Given the description of an element on the screen output the (x, y) to click on. 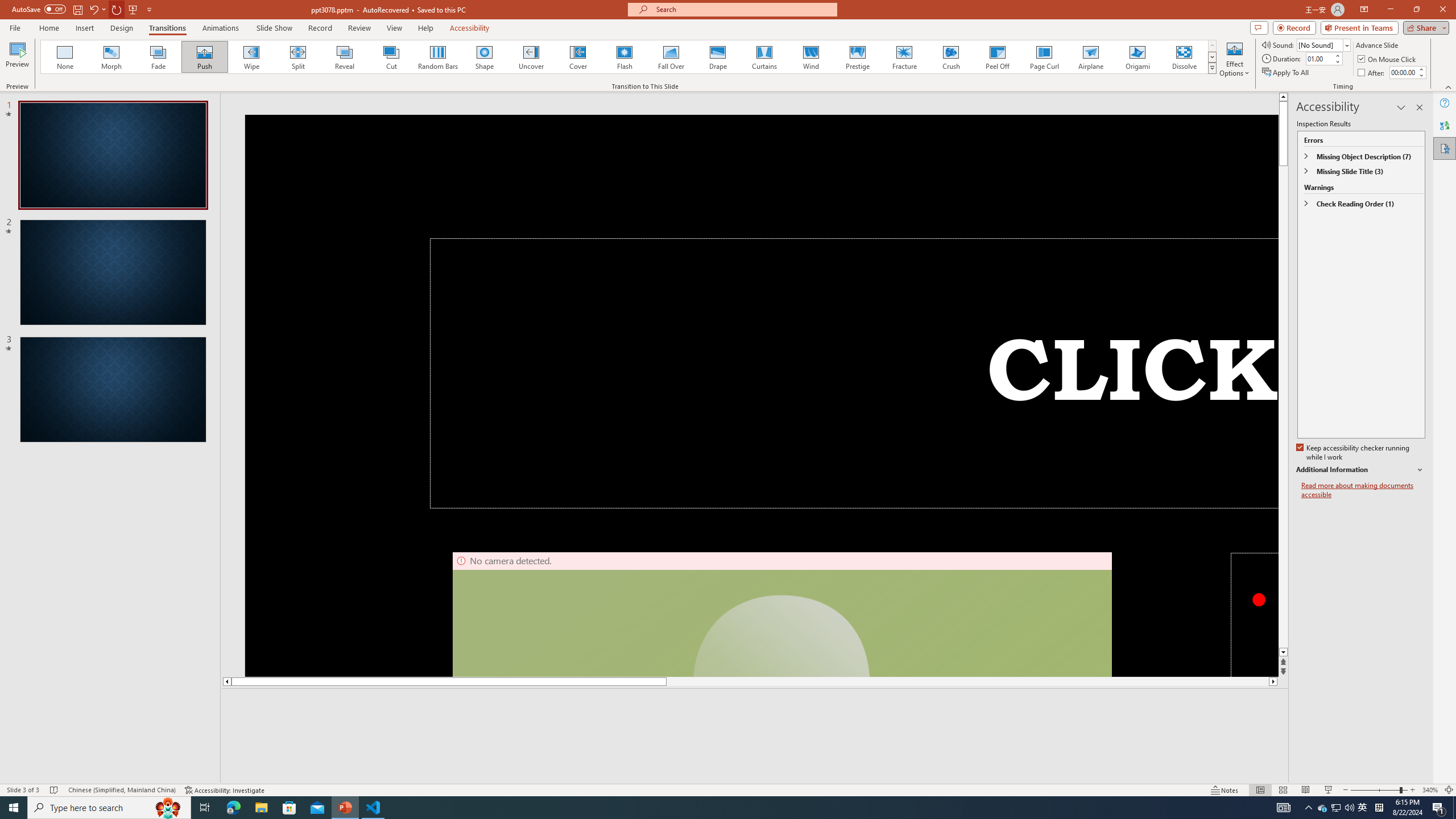
Page Curl (1043, 56)
On Mouse Click (1387, 58)
Transition Effects (1212, 67)
Uncover (531, 56)
